Given the description of an element on the screen output the (x, y) to click on. 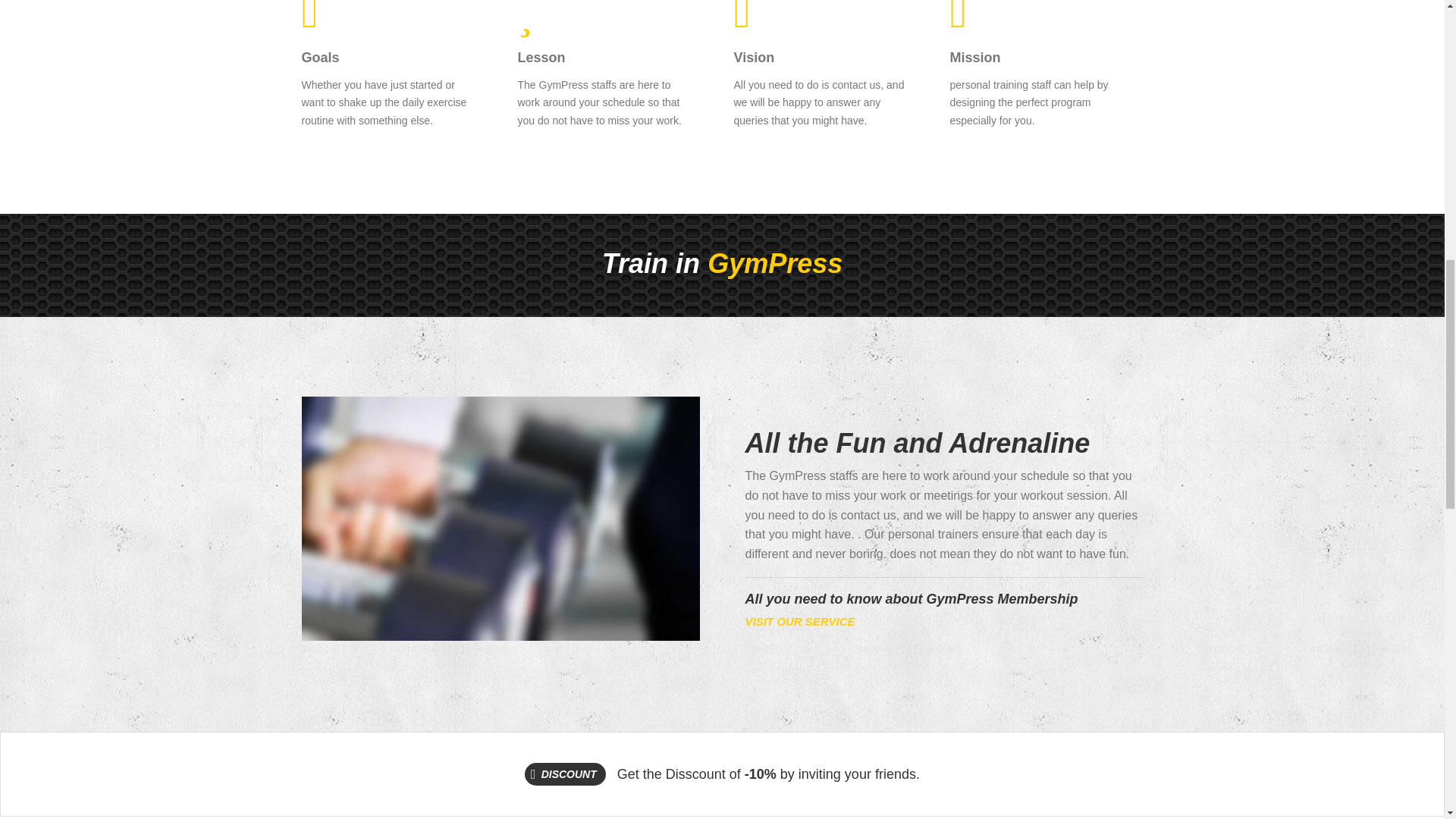
VISIT OUR SERVICE (799, 621)
